Given the description of an element on the screen output the (x, y) to click on. 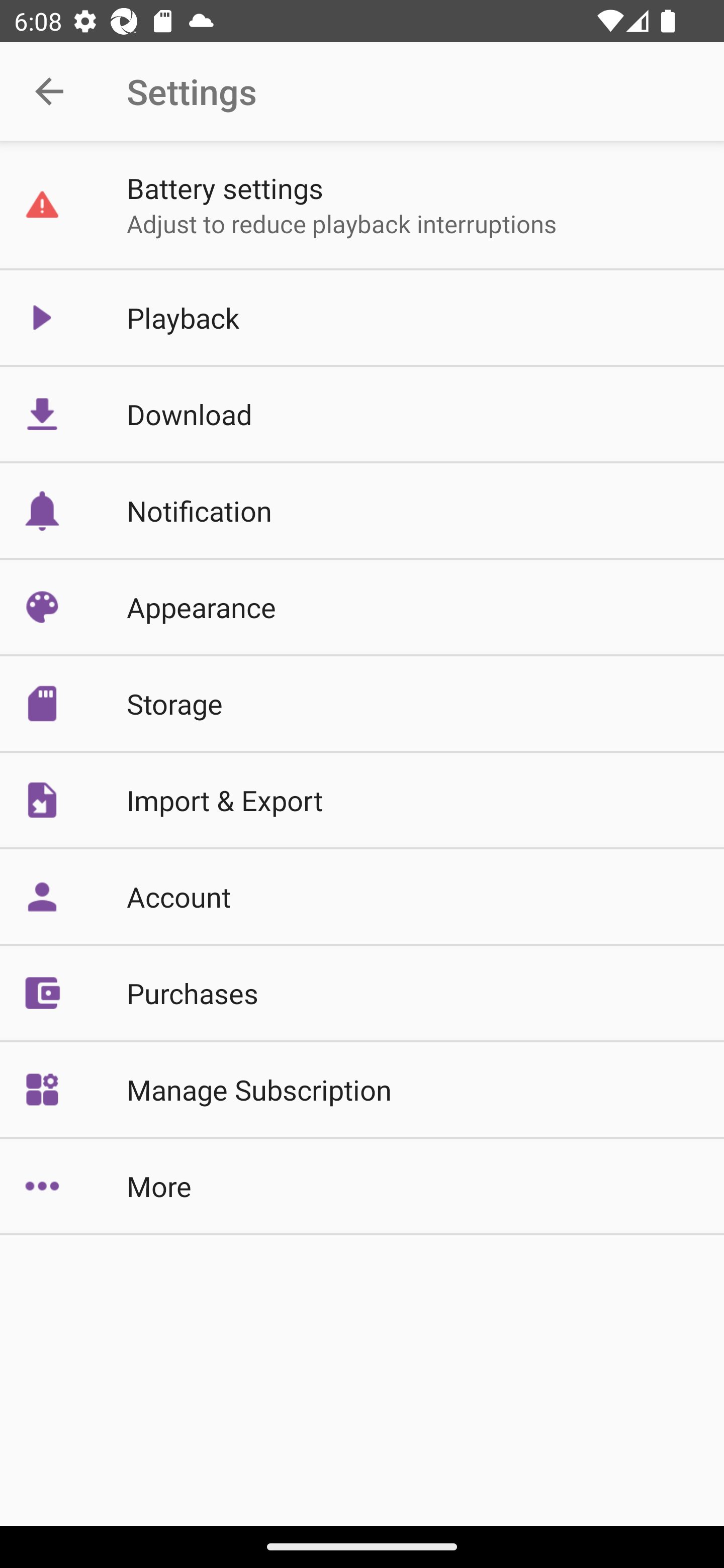
Navigate up (49, 91)
Playback (362, 317)
Download (362, 413)
Notification (362, 511)
Appearance (362, 606)
Storage (362, 703)
Import & Export (362, 799)
Account (362, 896)
Purchases (362, 992)
Manage Subscription (362, 1089)
More (362, 1186)
